Given the description of an element on the screen output the (x, y) to click on. 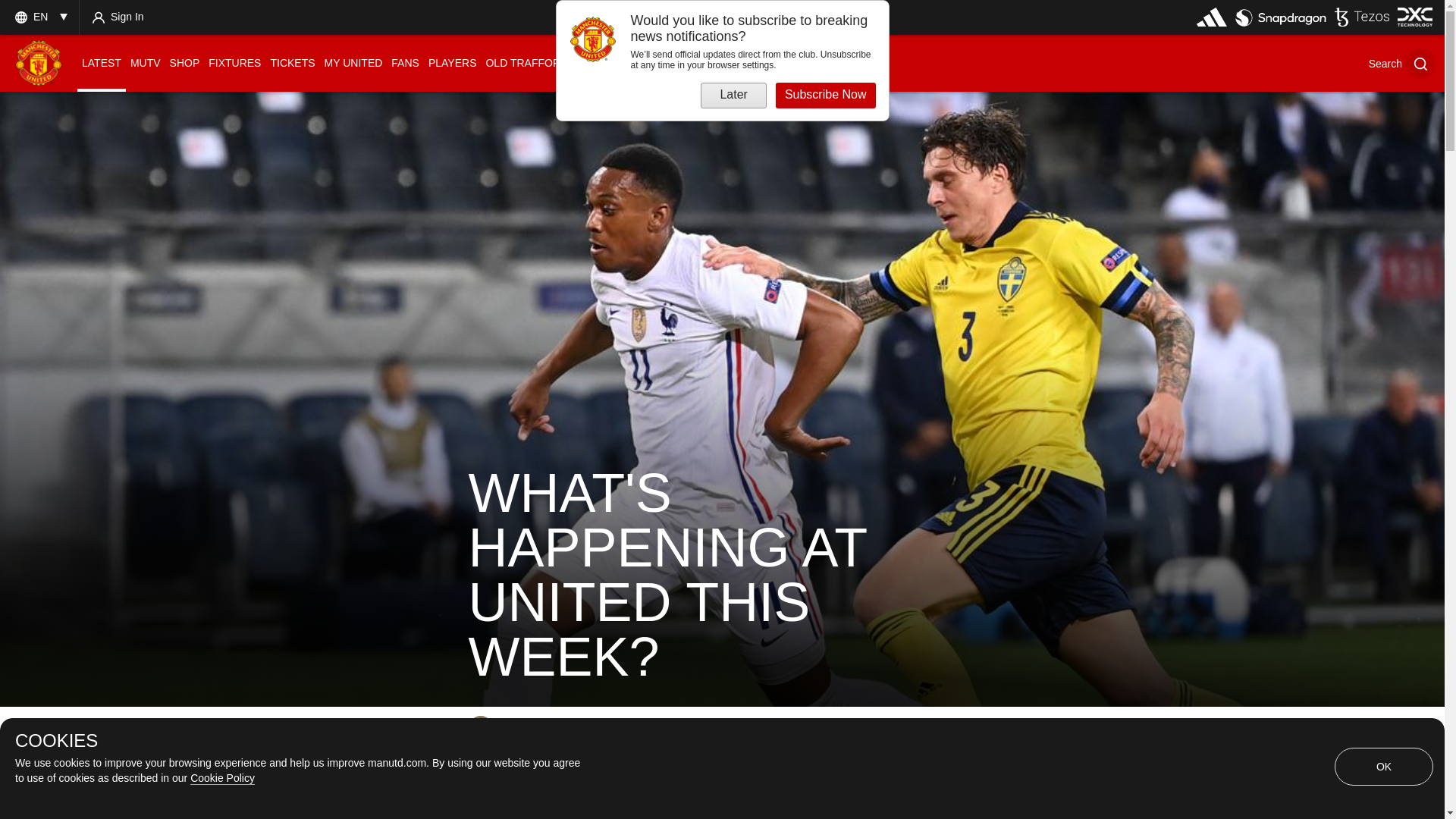
Subscribe Now (826, 95)
Cookie Policy (222, 778)
Later (732, 95)
OK (1383, 766)
